Given the description of an element on the screen output the (x, y) to click on. 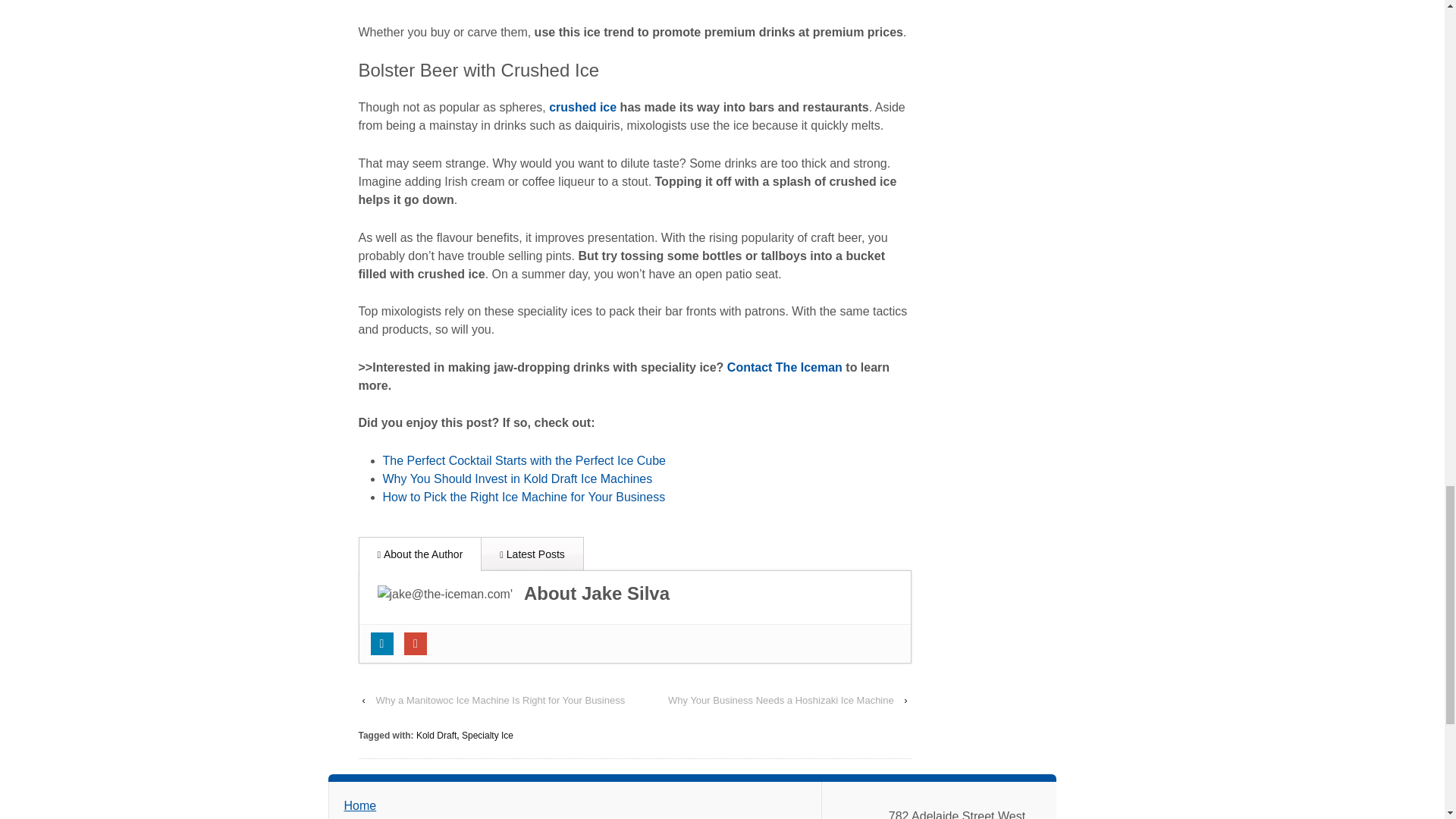
The Perfect Cocktail Starts with the Perfect Ice Cube (523, 460)
Contact The Iceman (784, 367)
crushed ice (581, 106)
